Given the description of an element on the screen output the (x, y) to click on. 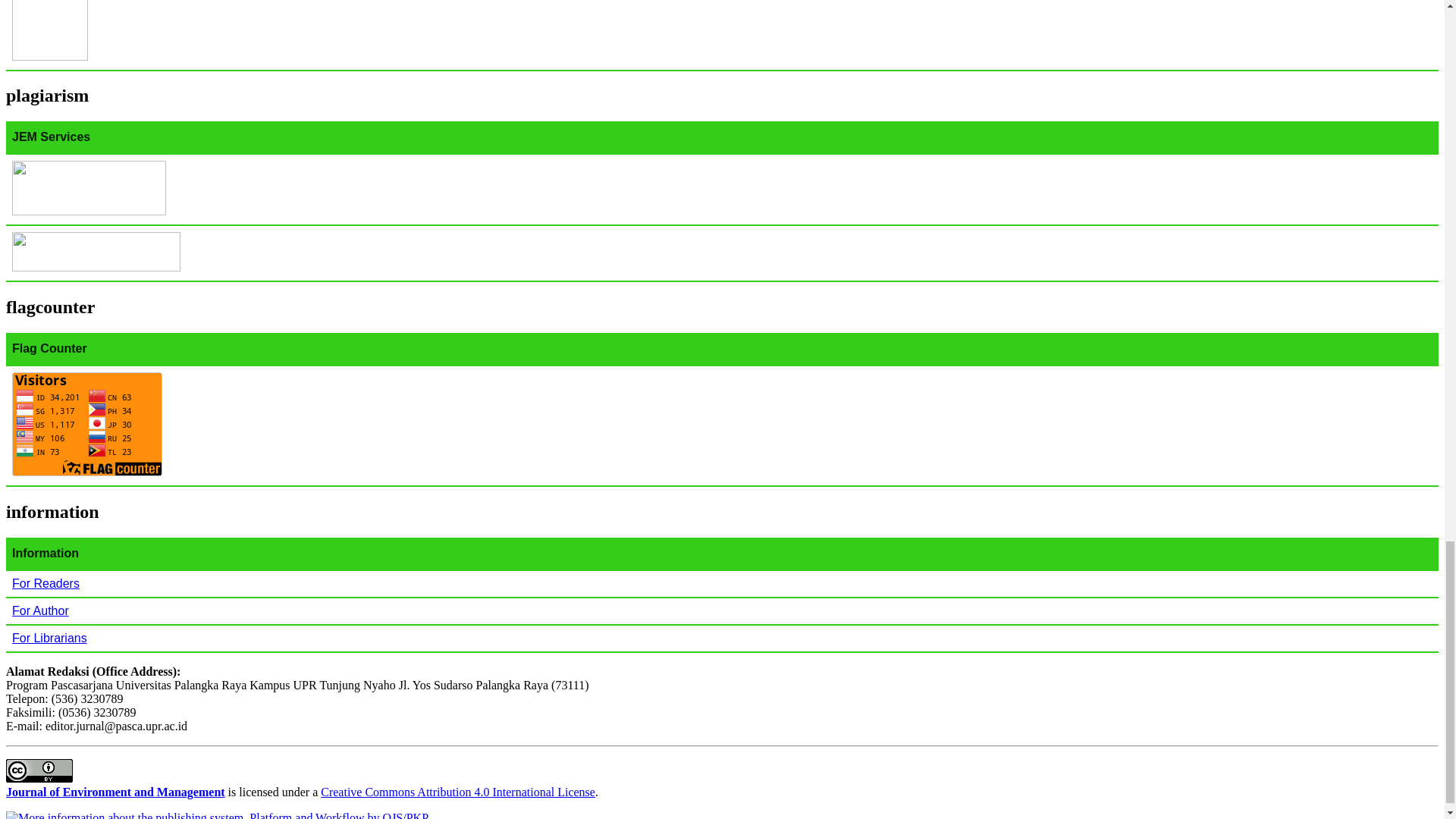
For Author (39, 610)
For Readers (45, 583)
template (49, 55)
For Librarians (49, 637)
Journal of Environment and Management (115, 791)
